Given the description of an element on the screen output the (x, y) to click on. 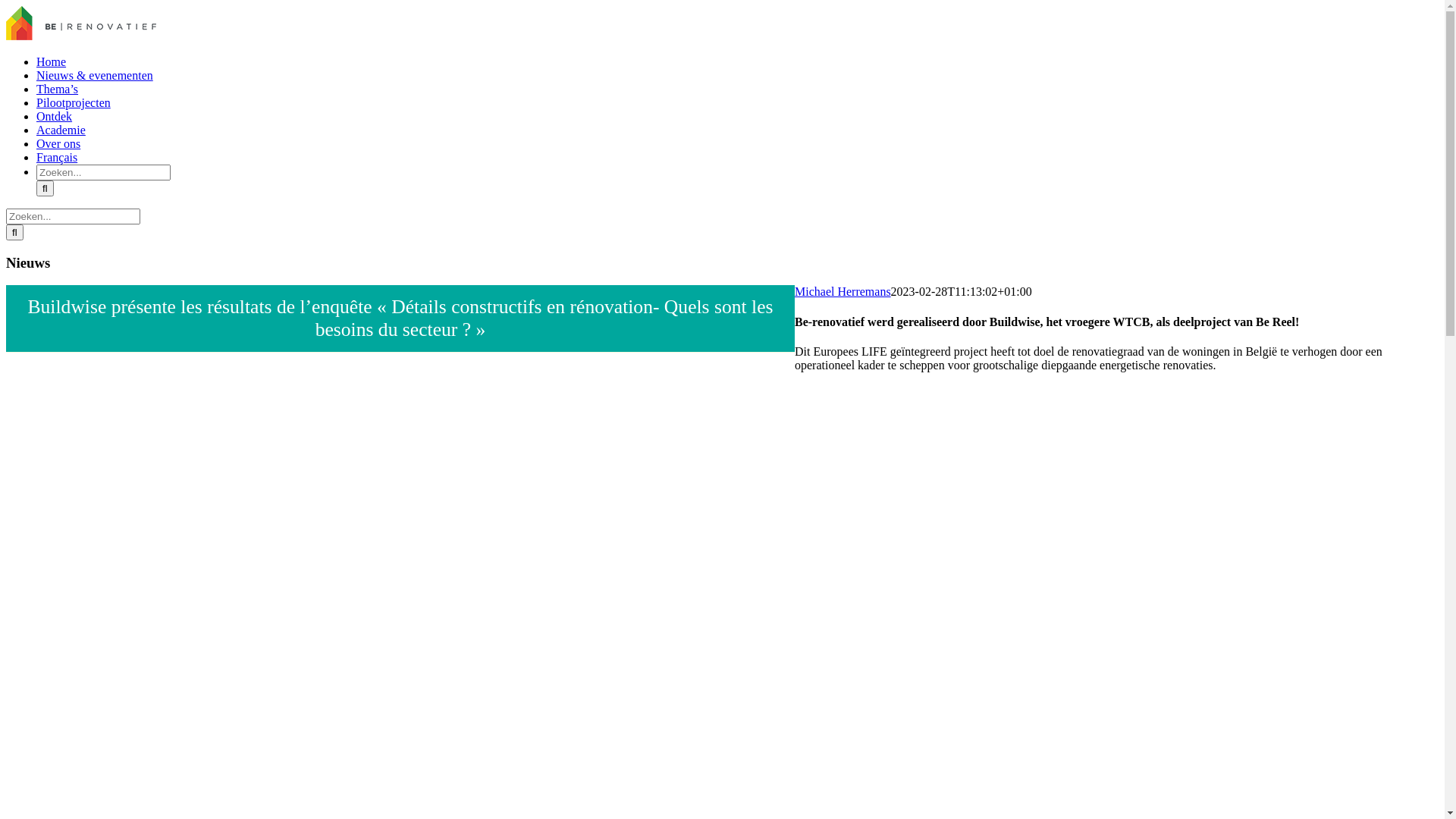
Academie Element type: text (60, 129)
Over ons Element type: text (58, 143)
Ontdek Element type: text (54, 115)
Nieuws & evenementen Element type: text (94, 75)
Home Element type: text (50, 61)
Pilootprojecten Element type: text (73, 102)
Skip to content Element type: text (5, 5)
Michael Herremans Element type: text (842, 291)
